Given the description of an element on the screen output the (x, y) to click on. 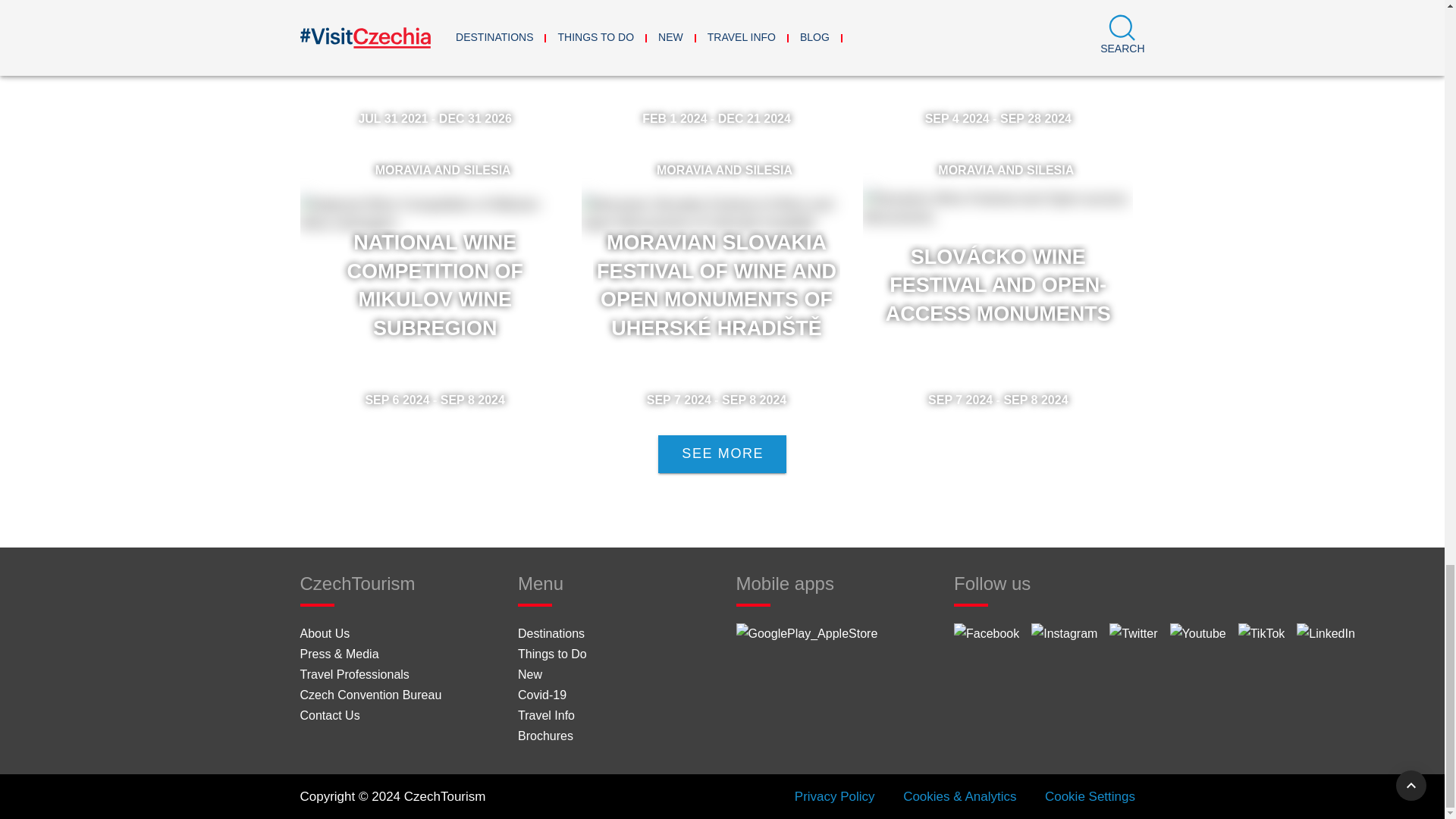
Contact Us (329, 715)
Czech Convention Bureau (370, 694)
SEE MORE (722, 453)
Things to Do (552, 653)
New (529, 674)
About Us (324, 633)
Travel Professionals (354, 674)
Travel Info (546, 715)
